Given the description of an element on the screen output the (x, y) to click on. 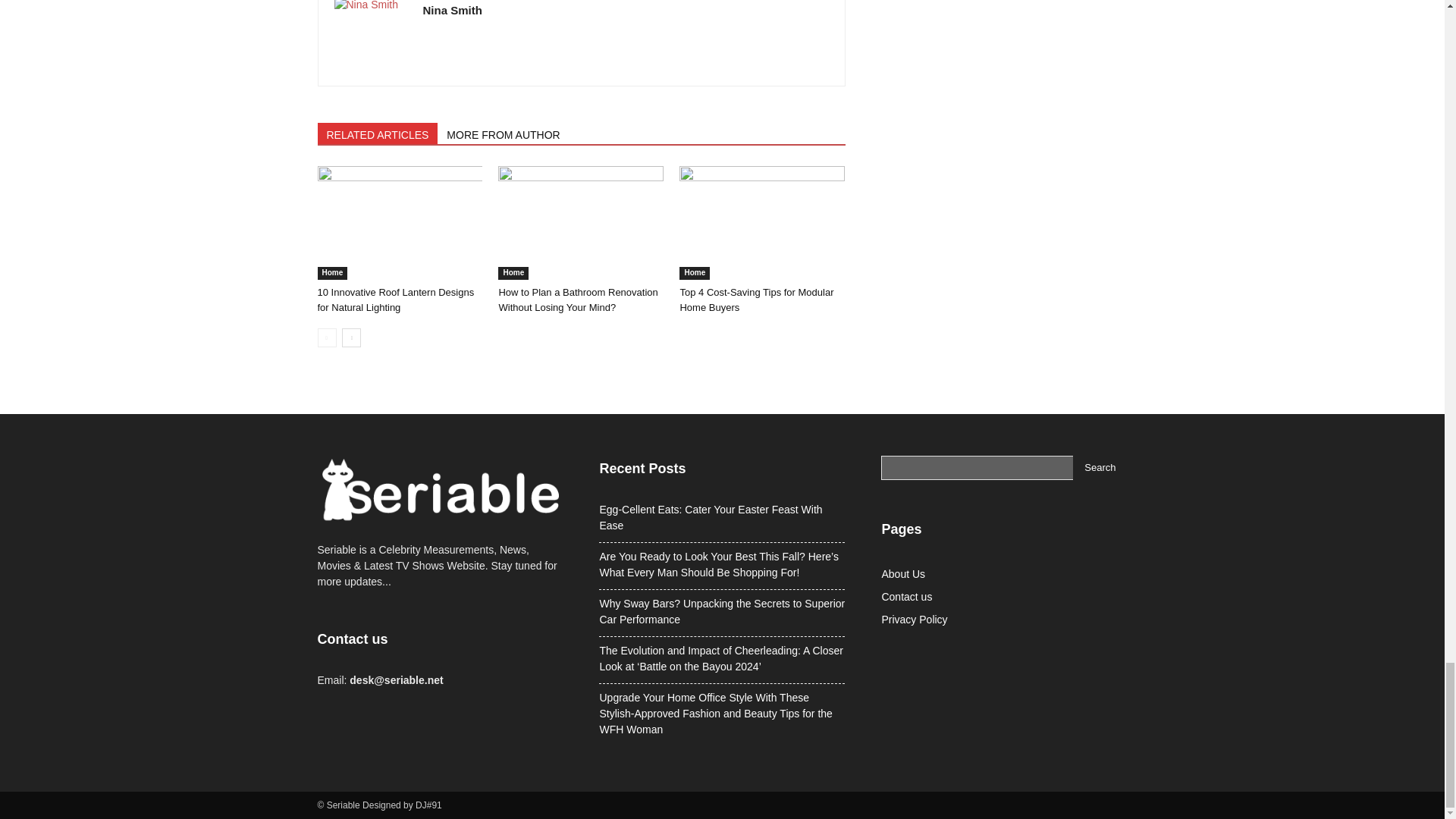
How to Plan a Bathroom Renovation Without Losing Your Mind? (577, 299)
Top 4 Cost-Saving Tips for Modular Home Buyers (761, 223)
How to Plan a Bathroom Renovation Without Losing Your Mind? (580, 223)
10 Innovative Roof Lantern Designs for Natural Lighting (399, 223)
Search (1099, 467)
10 Innovative Roof Lantern Designs for Natural Lighting (395, 299)
